Given the description of an element on the screen output the (x, y) to click on. 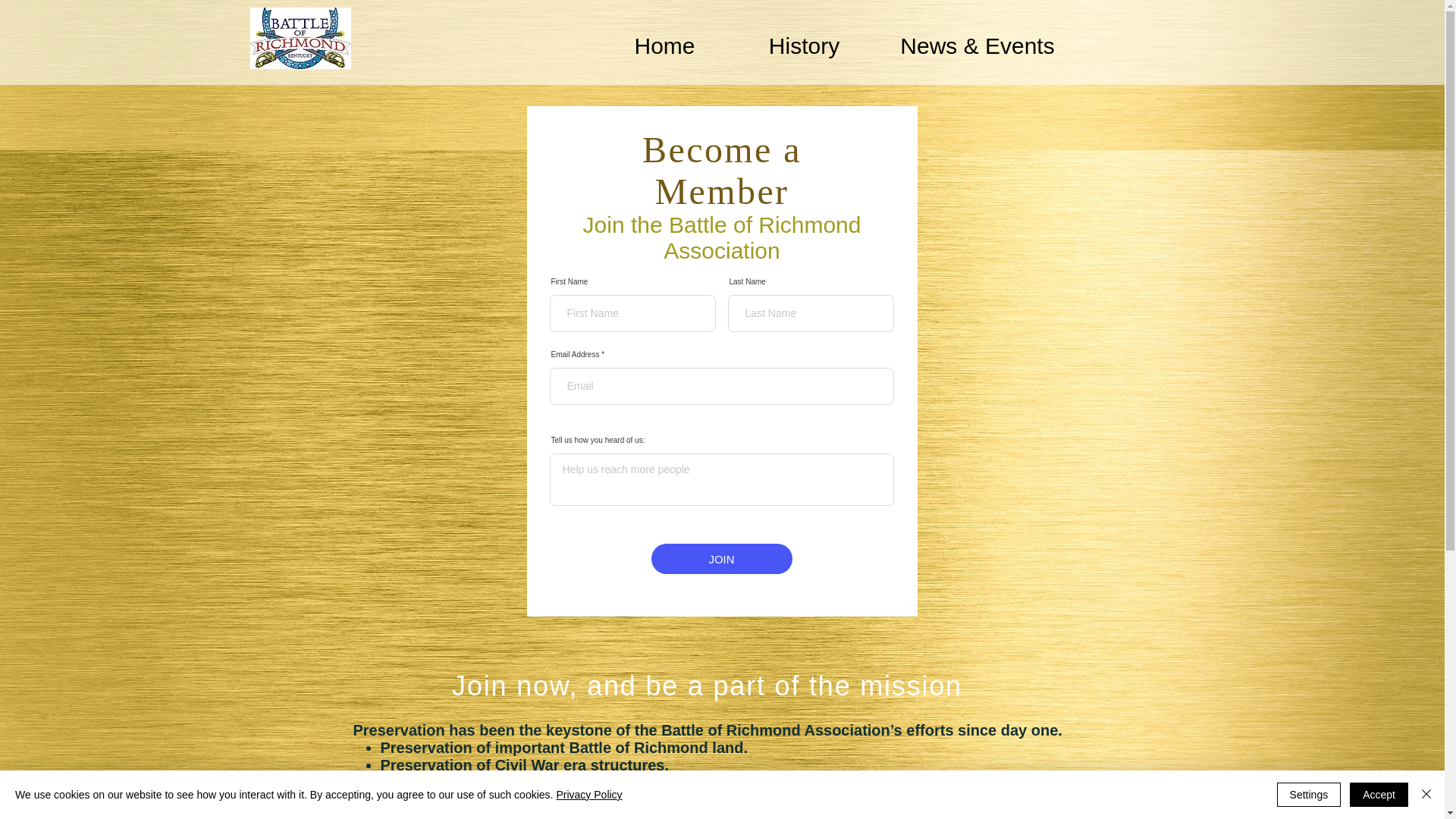
History (804, 46)
Privacy Policy (588, 794)
BORA.jpg (300, 37)
JOIN (721, 558)
Settings (1308, 794)
Accept (1378, 794)
Home (664, 46)
